Given the description of an element on the screen output the (x, y) to click on. 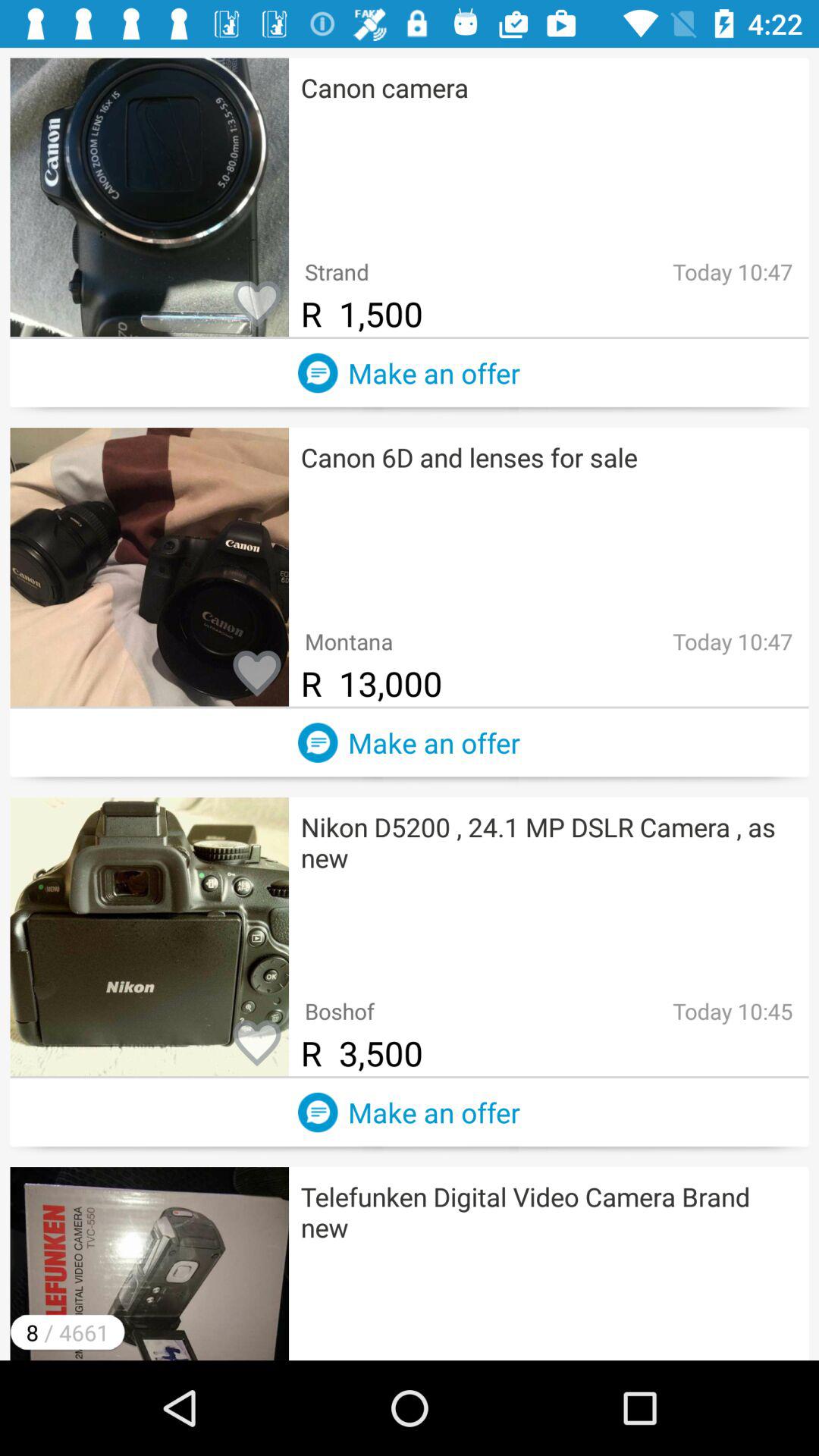
chat with seller (317, 1112)
